Given the description of an element on the screen output the (x, y) to click on. 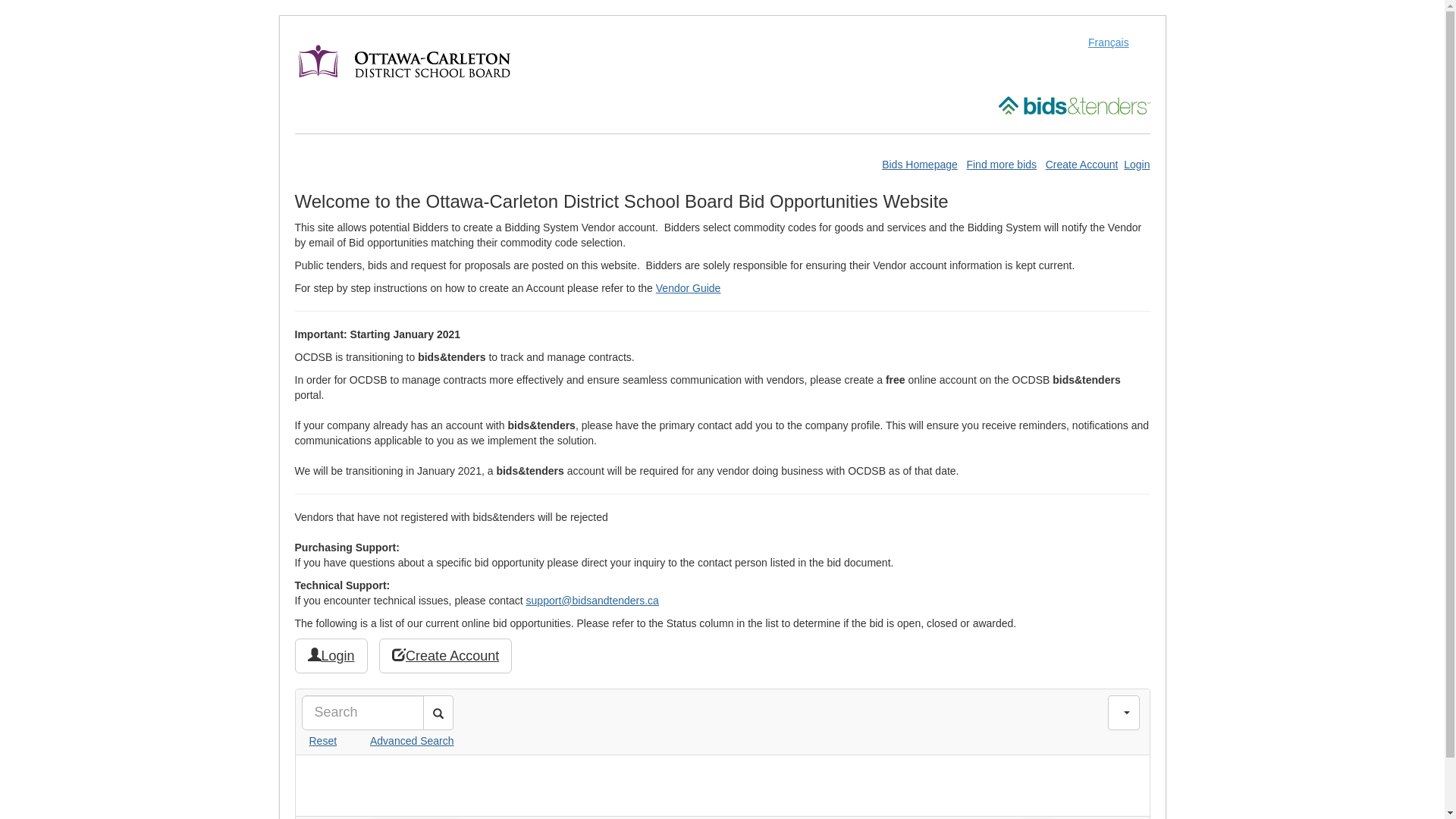
support@bidsandtenders.ca Element type: text (592, 600)
Find more bids Element type: text (1001, 164)
Skip to Content (Press Enter) Element type: text (0, 0)
Create Account Element type: text (445, 655)
Search Element type: text (438, 712)
Reset Element type: text (319, 740)
Vendor Guide Element type: text (688, 288)
Login Element type: text (1136, 164)
Advanced Search Element type: text (396, 740)
Open Bids and Tenders site in a new window Element type: hover (1073, 104)
Bids Homepage Element type: text (919, 164)
Toggle Filters Element type: text (1123, 712)
Create Account Element type: text (1081, 164)
Login Element type: text (330, 655)
